Given the description of an element on the screen output the (x, y) to click on. 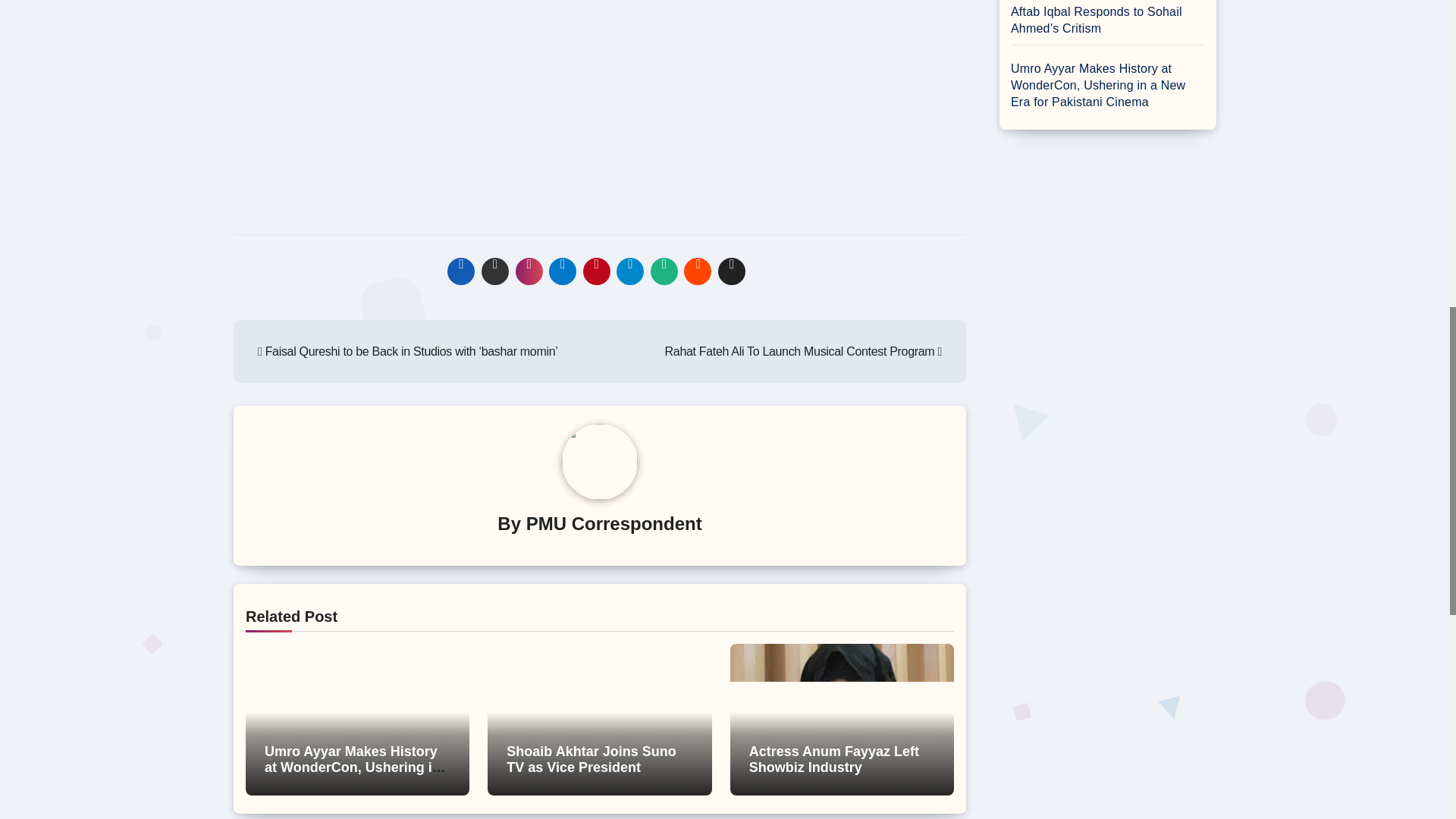
Actress Anum Fayyaz Left Showbiz Industry (833, 759)
PMU Correspondent (613, 523)
Permalink to: Actress Anum Fayyaz Left Showbiz Industry (833, 759)
Rahat Fateh Ali To Launch Musical Contest Program (803, 350)
Permalink to: Shoaib Akhtar Joins Suno TV as Vice President (590, 759)
Shoaib Akhtar Joins Suno TV as Vice President (590, 759)
